Given the description of an element on the screen output the (x, y) to click on. 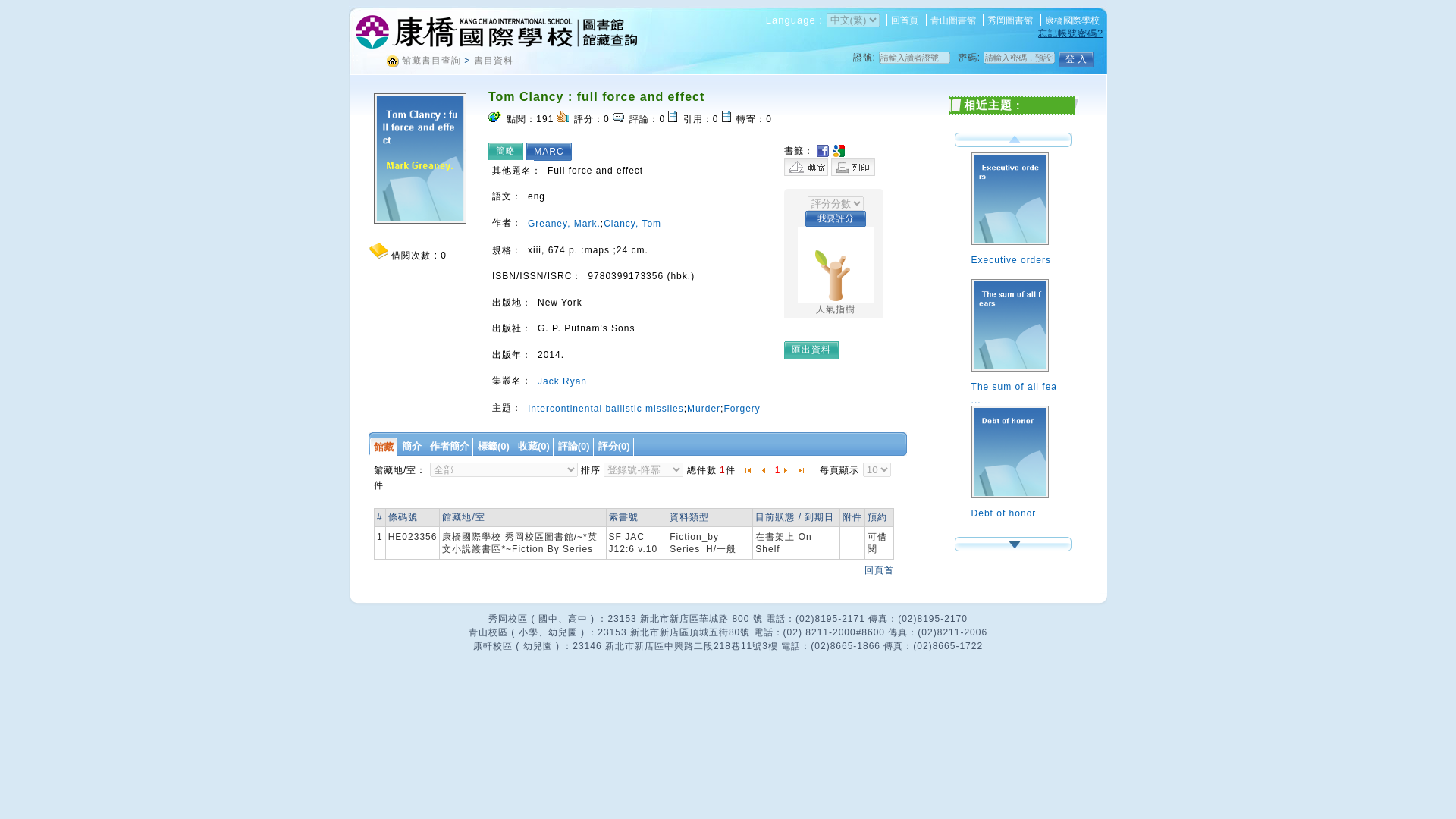
Forgery (741, 408)
Executive orders (1016, 250)
Clancy, Tom (632, 223)
The sum of all fea ... (1016, 384)
Greaney, Mark. (563, 223)
MARC (552, 149)
::: (354, 57)
Jack Ryan (561, 380)
Facebook (823, 150)
Murder (703, 408)
1 (777, 470)
MARC (552, 149)
Intercontinental ballistic missiles (605, 408)
Debt of honor (1016, 504)
